Given the description of an element on the screen output the (x, y) to click on. 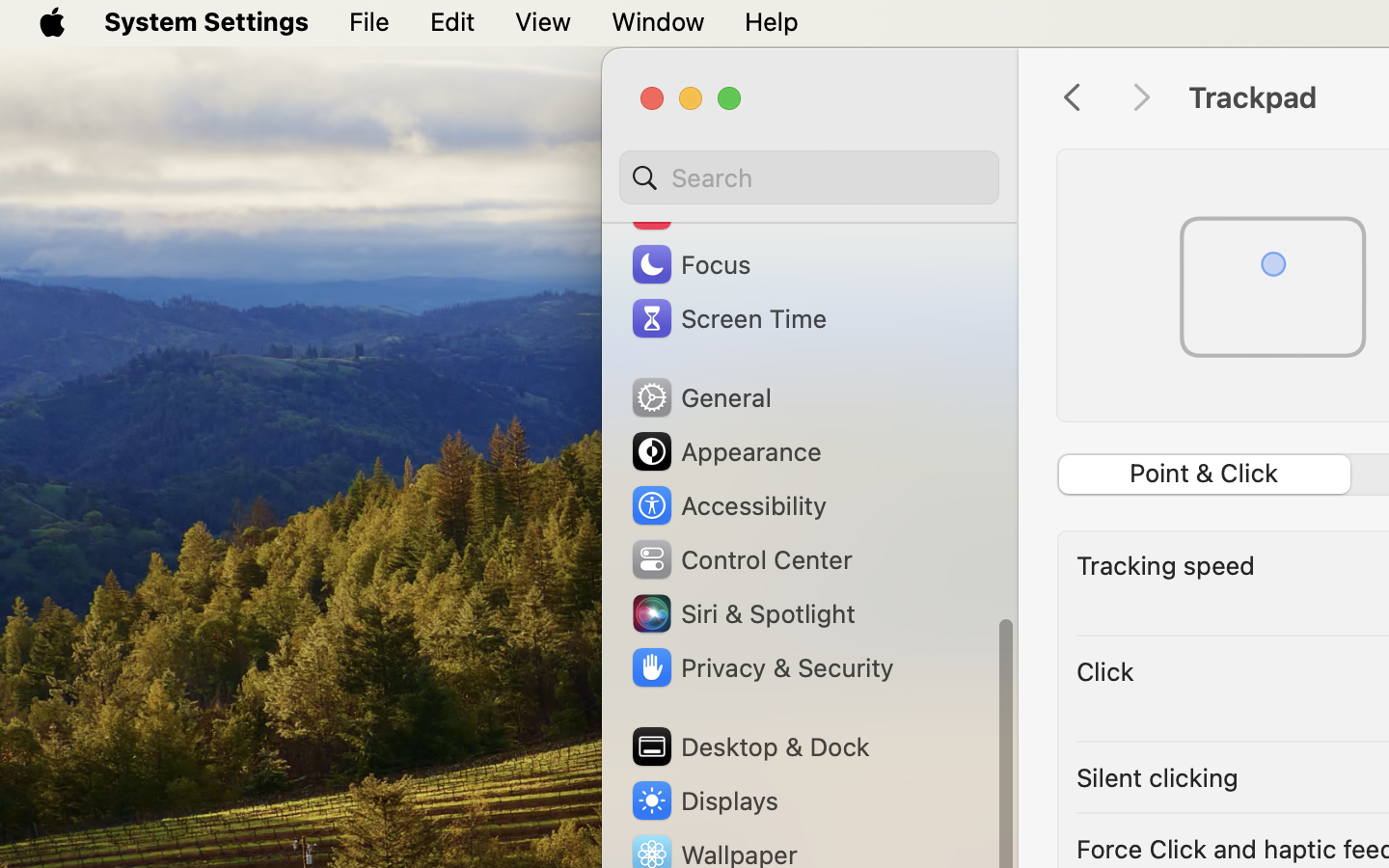
General Element type: AXStaticText (699, 397)
Tracking speed Element type: AXStaticText (1165, 564)
Desktop & Dock Element type: AXStaticText (749, 746)
Control Center Element type: AXStaticText (740, 559)
Accessibility Element type: AXStaticText (727, 505)
